Given the description of an element on the screen output the (x, y) to click on. 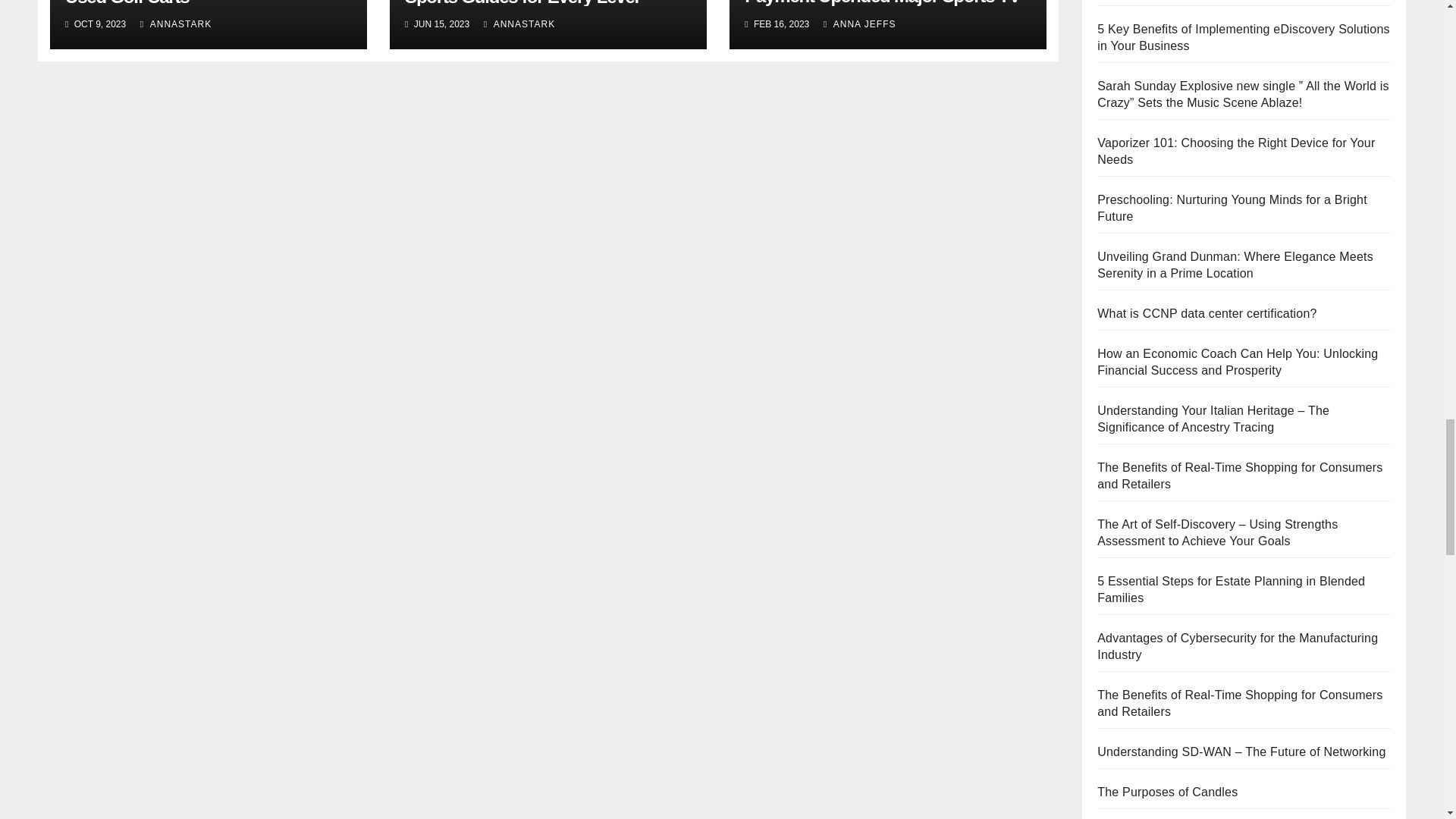
Permalink to: Things to Look for When Buying Used Golf Carts (191, 3)
